Given the description of an element on the screen output the (x, y) to click on. 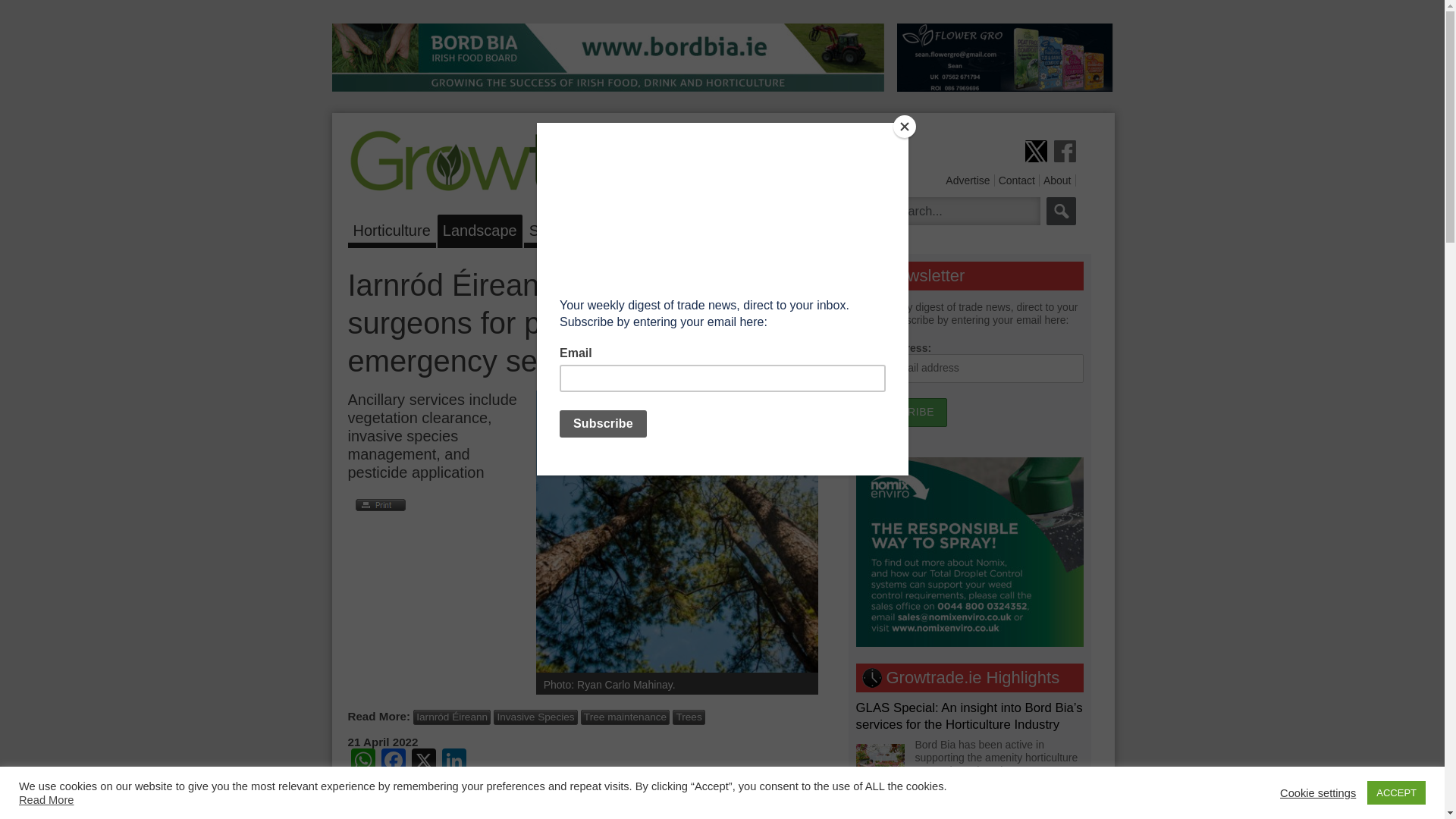
Tree maintenance (624, 717)
LinkedIn (453, 762)
Facebook (392, 762)
Follow on Twitter (1035, 151)
Careers (719, 228)
X (422, 762)
About (1057, 180)
Subscribe (901, 412)
Retail (661, 228)
Landscape (480, 228)
Invasive Species (534, 717)
Trees (688, 717)
Advertise (967, 180)
Print (375, 504)
Search... (962, 211)
